Given the description of an element on the screen output the (x, y) to click on. 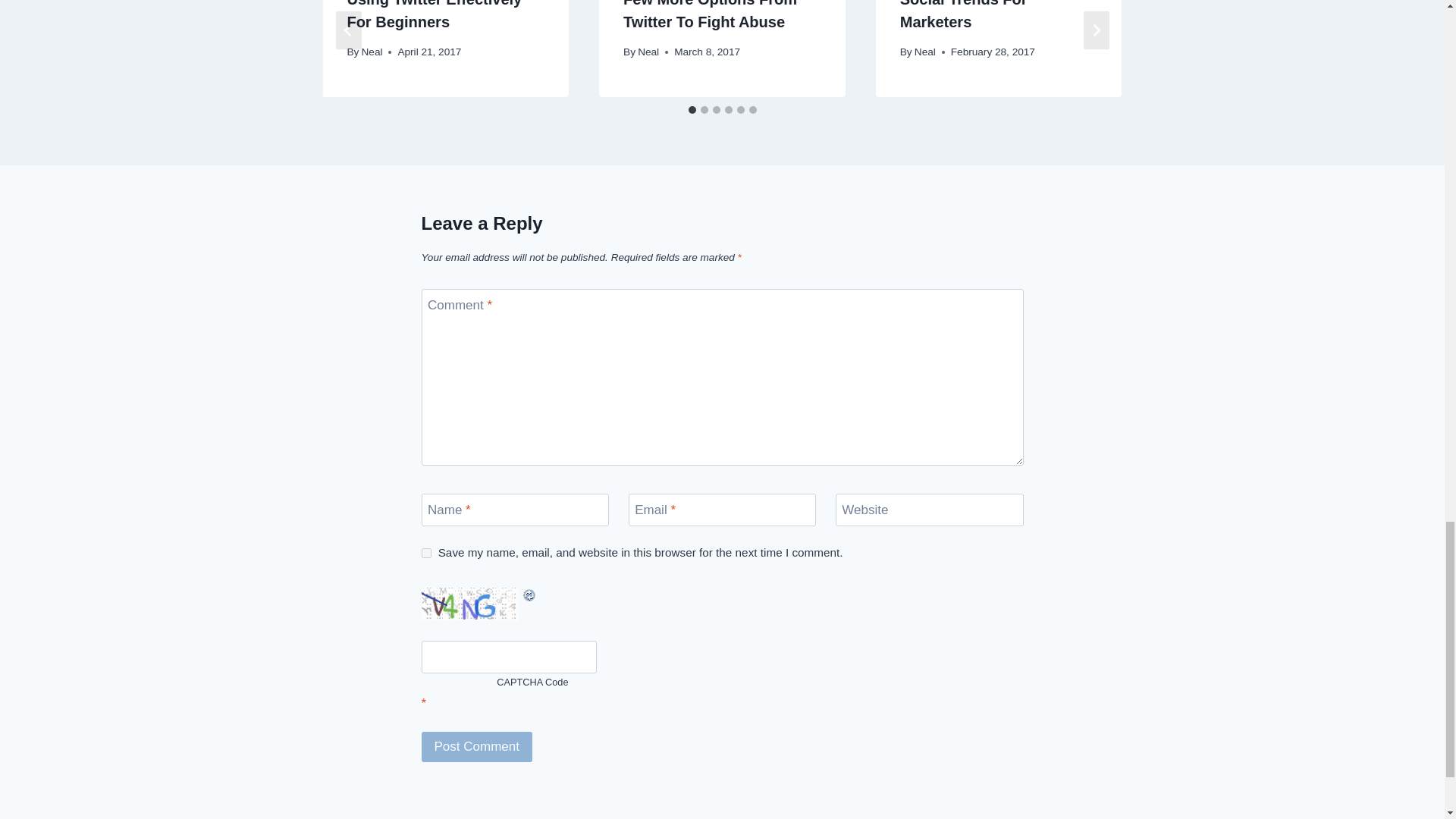
Post Comment (477, 747)
Refresh (488, 595)
CAPTCHA (471, 603)
yes (426, 552)
Using Twitter Effectively For Beginners (433, 15)
